Given the description of an element on the screen output the (x, y) to click on. 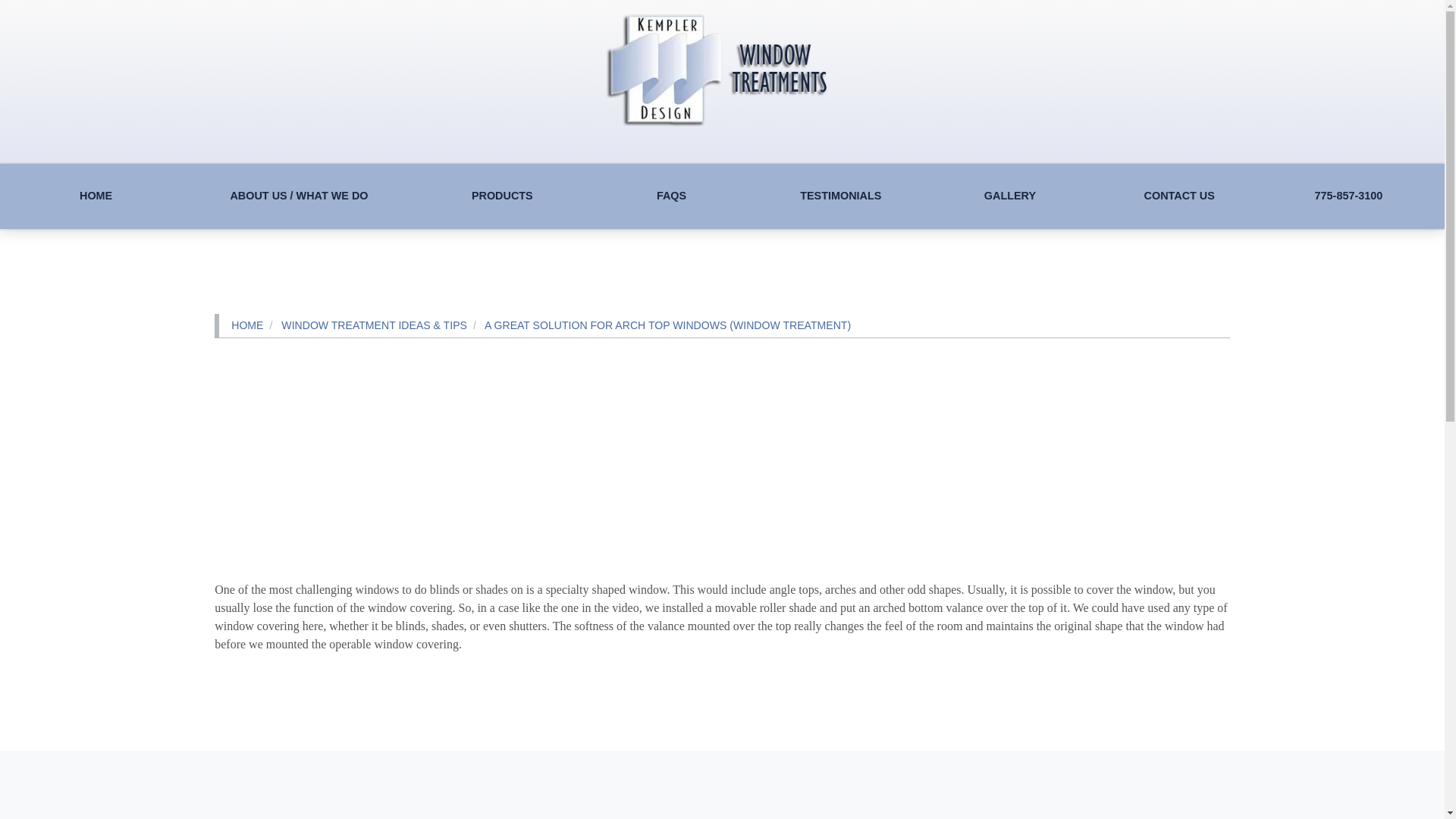
PRODUCTS (501, 196)
HOME (95, 196)
